Given the description of an element on the screen output the (x, y) to click on. 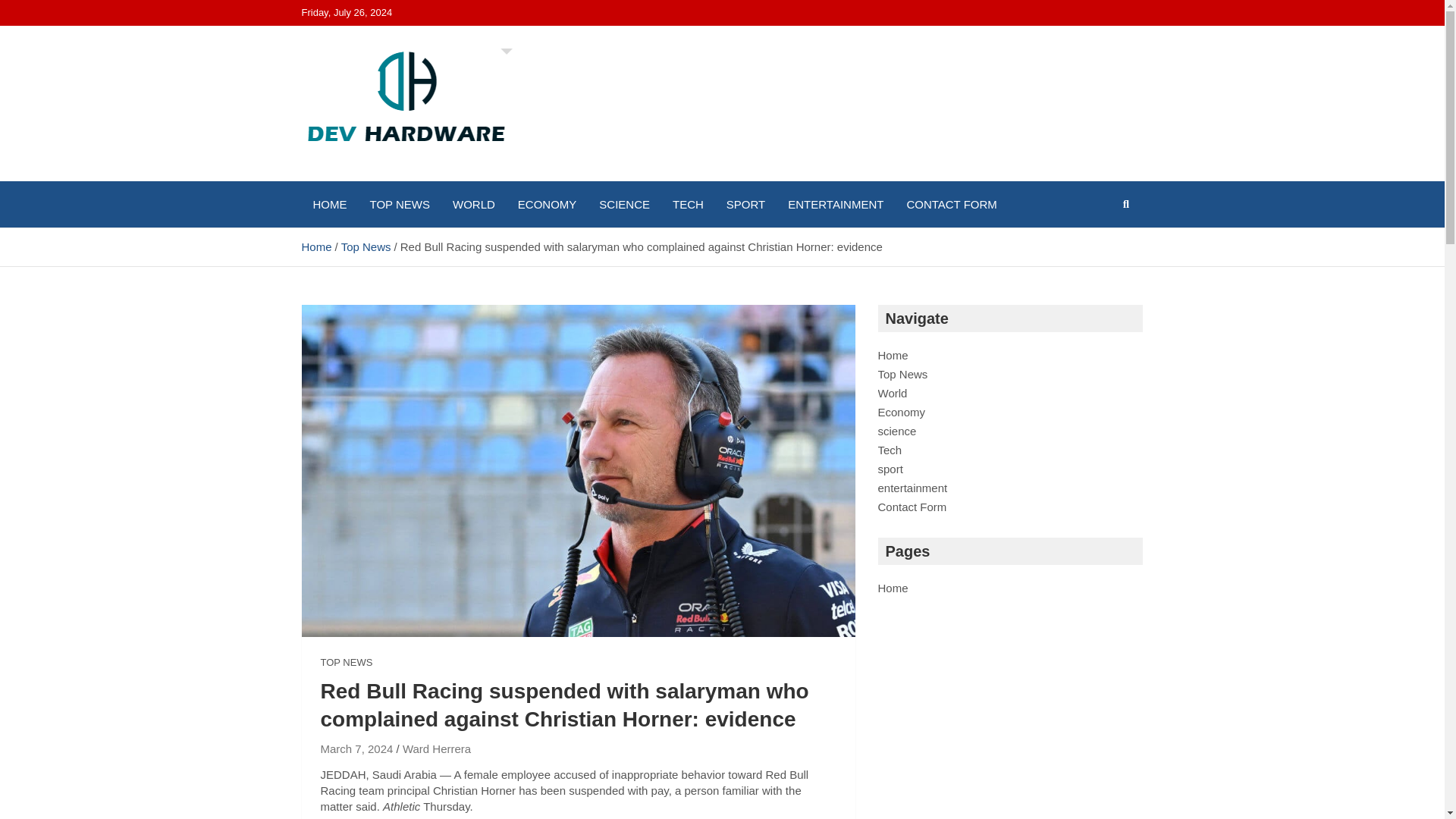
ENTERTAINMENT (835, 203)
SCIENCE (624, 203)
science (897, 431)
Economy (901, 411)
Top News (365, 246)
Dev Hardware (402, 177)
sport (889, 468)
Top News (902, 373)
Home (316, 246)
TOP NEWS (399, 203)
Contact Form (912, 506)
ECONOMY (547, 203)
HOME (329, 203)
Ward Herrera (436, 748)
